Given the description of an element on the screen output the (x, y) to click on. 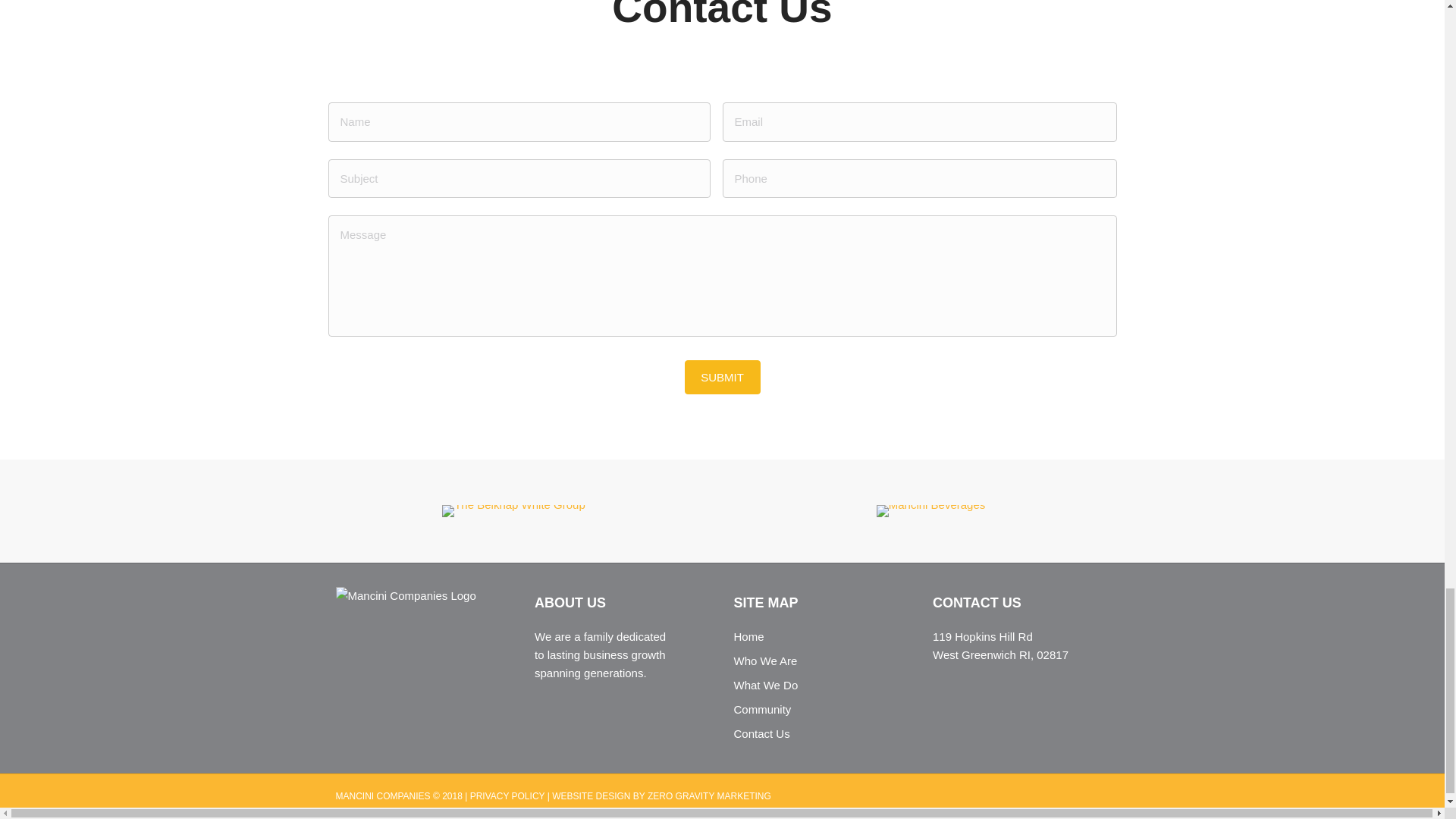
PRIVACY POLICY (507, 796)
Contact Us (761, 733)
Home (748, 635)
WEBSITE DESIGN BY ZERO GRAVITY MARKETING (661, 796)
What We Do (765, 684)
Community (762, 708)
SUBMIT (722, 376)
SUBMIT (722, 376)
Who We Are (765, 660)
